Given the description of an element on the screen output the (x, y) to click on. 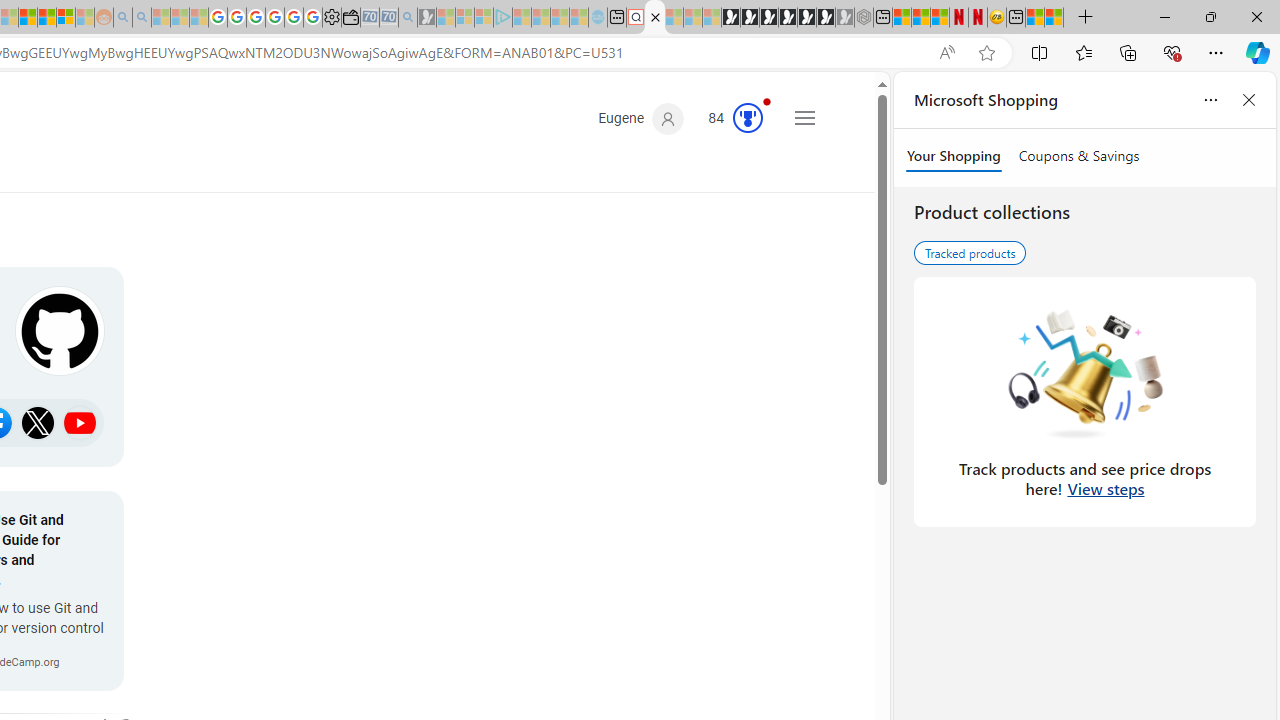
Animation (766, 101)
github - Search (655, 17)
Kinda Frugal - MSN (47, 17)
Microsoft Start Gaming - Sleeping (427, 17)
